Given the description of an element on the screen output the (x, y) to click on. 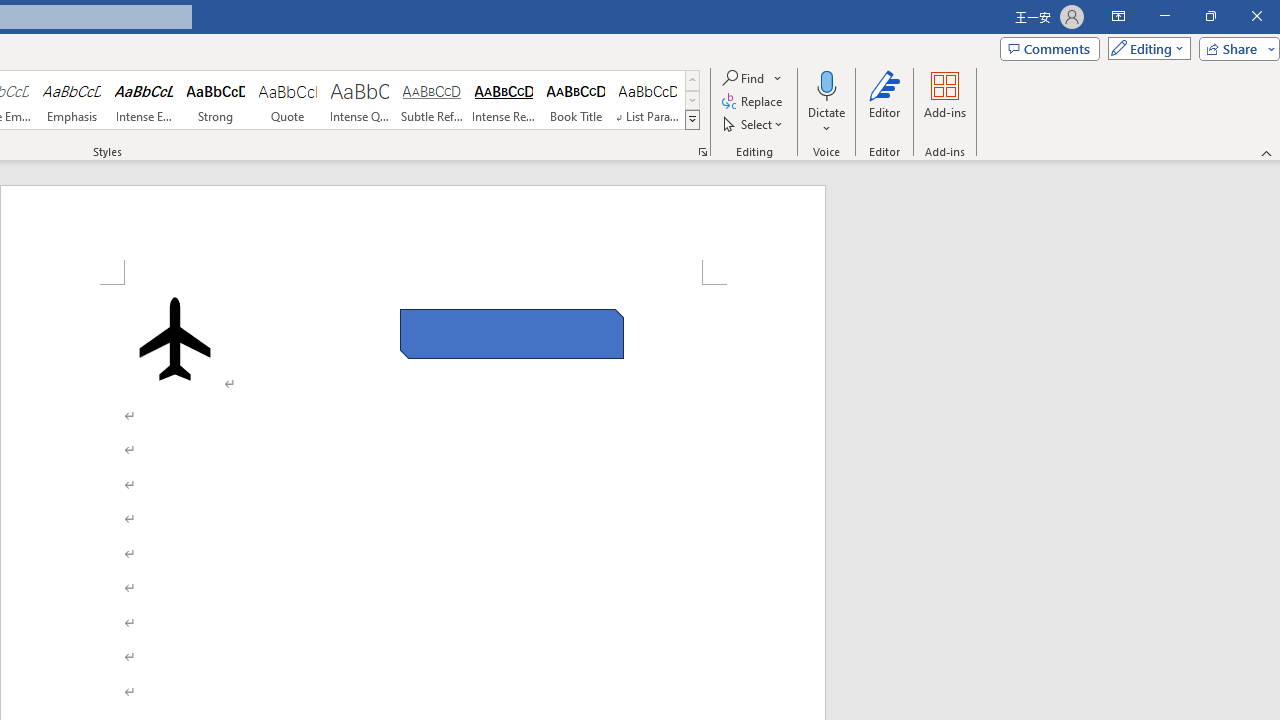
Editor (885, 102)
Book Title (575, 100)
Close (1256, 16)
